Given the description of an element on the screen output the (x, y) to click on. 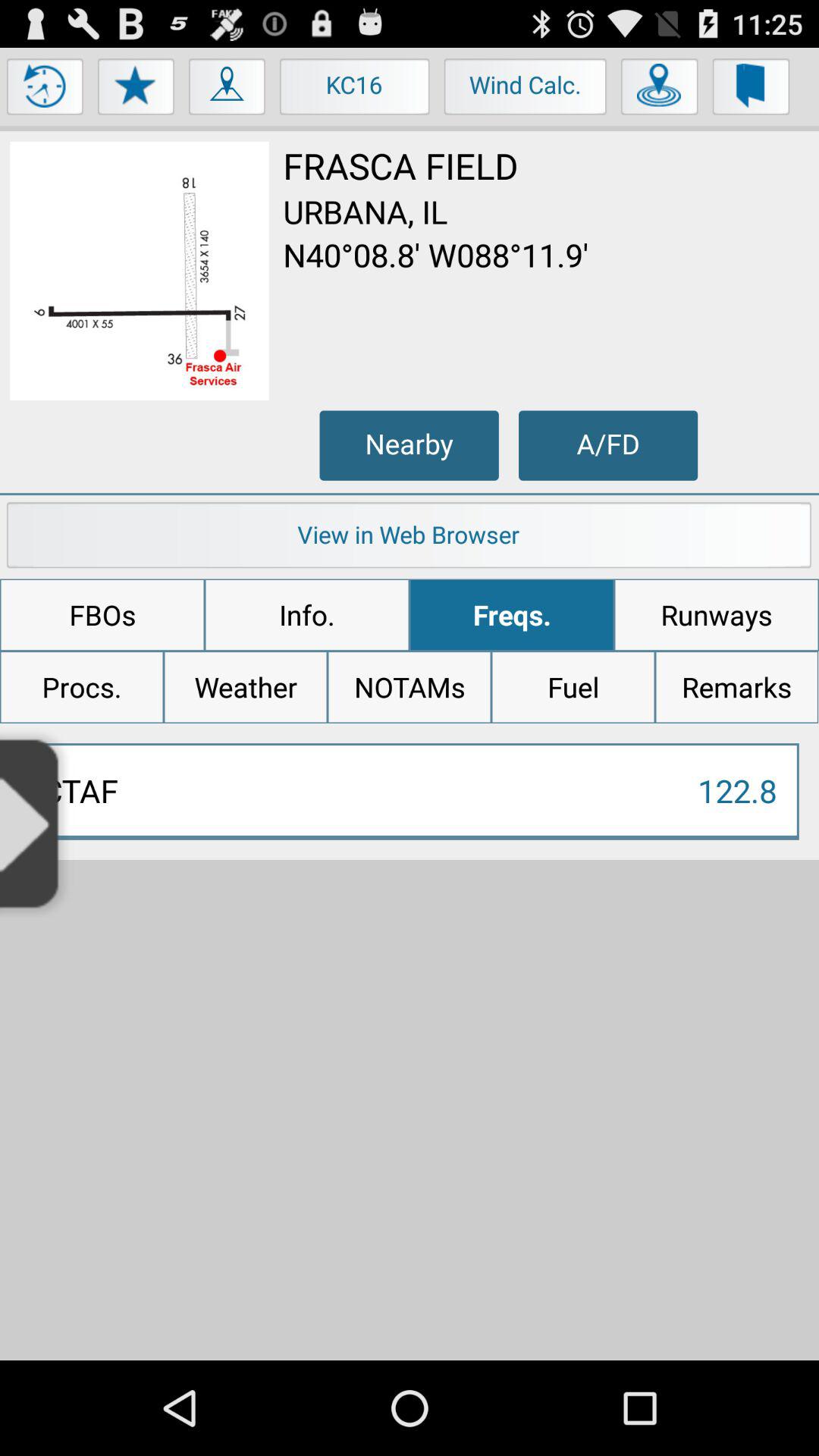
open the map (227, 90)
